Given the description of an element on the screen output the (x, y) to click on. 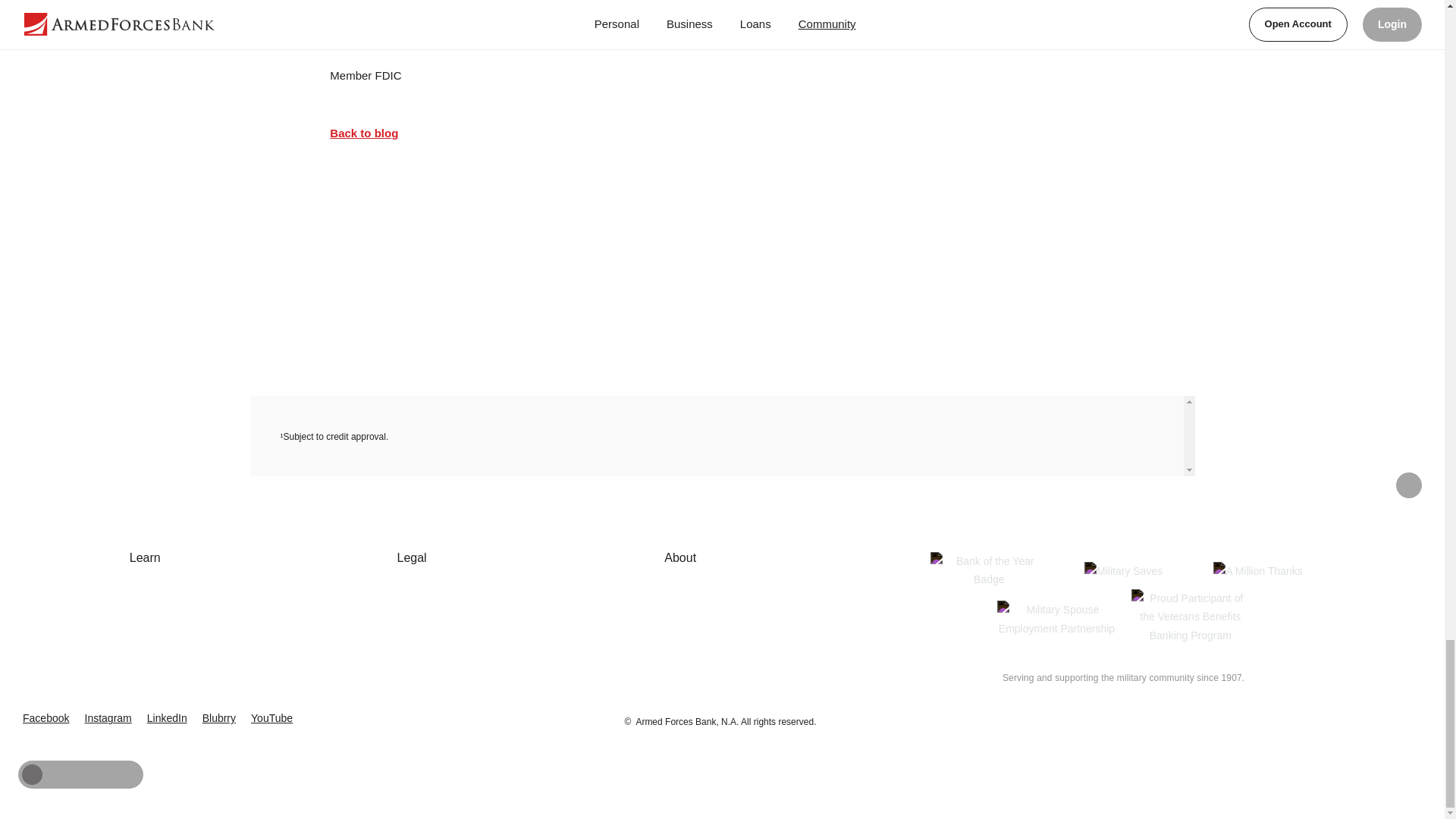
Member FDIC (1308, 714)
Scroll back to the top (1409, 484)
Equal Housing Lender (1369, 710)
